Given the description of an element on the screen output the (x, y) to click on. 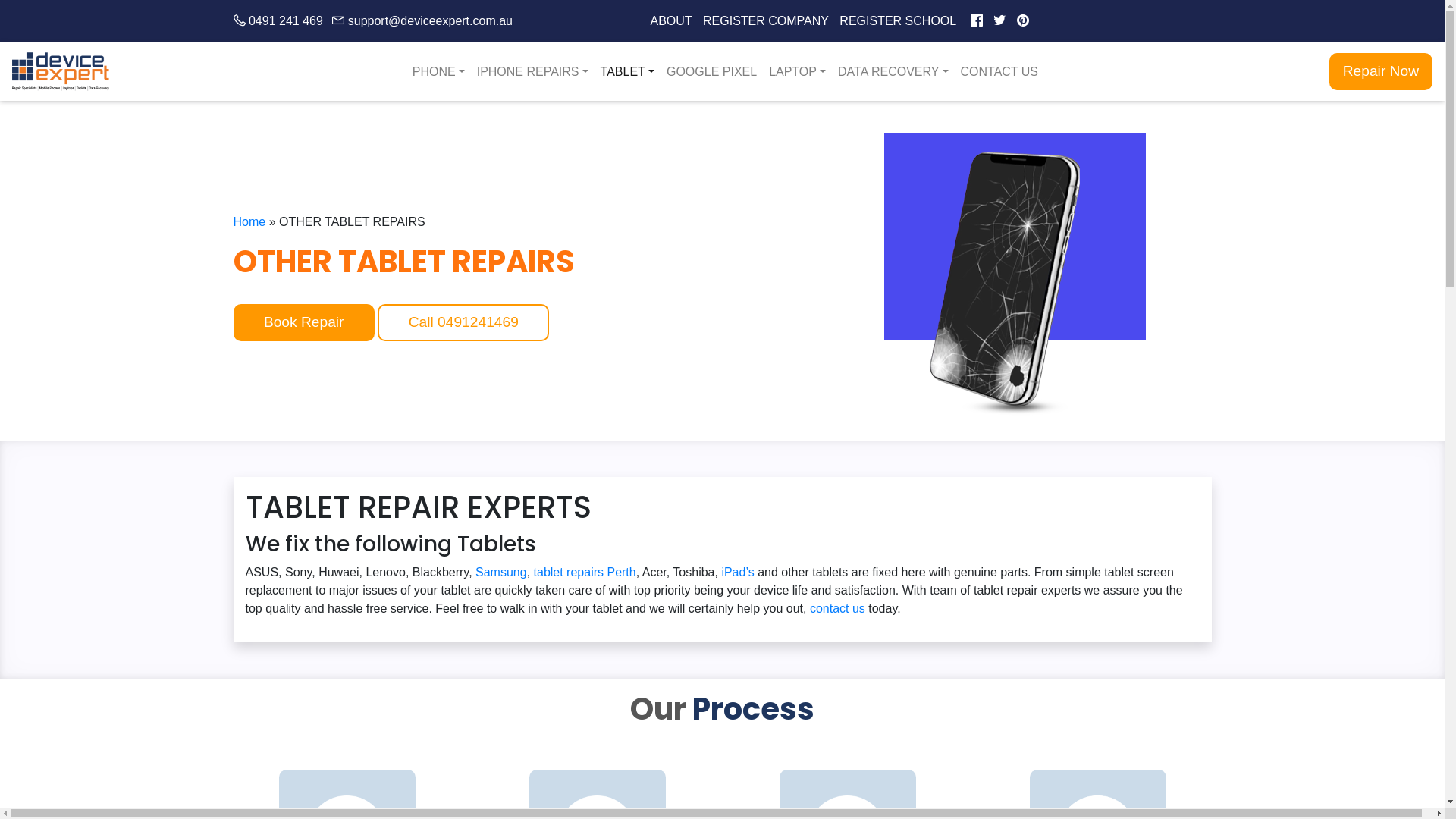
tablet repairs Perth Element type: text (584, 571)
GOOGLE PIXEL Element type: text (711, 71)
TABLET Element type: text (627, 71)
Samsung Element type: text (501, 571)
0491 241 469 Element type: text (278, 20)
contact us Element type: text (837, 608)
REGISTER SCHOOL Element type: text (897, 20)
CONTACT US Element type: text (998, 71)
Book Repair Element type: text (303, 322)
DATA RECOVERY Element type: text (892, 71)
REGISTER COMPANY Element type: text (765, 20)
Call 0491241469 Element type: text (463, 322)
support@deviceexpert.com.au Element type: text (422, 20)
ABOUT Element type: text (671, 20)
LAPTOP Element type: text (796, 71)
Home Element type: text (249, 221)
IPHONE REPAIRS Element type: text (532, 71)
PHONE Element type: text (438, 71)
Repair Now Element type: text (1380, 71)
